Given the description of an element on the screen output the (x, y) to click on. 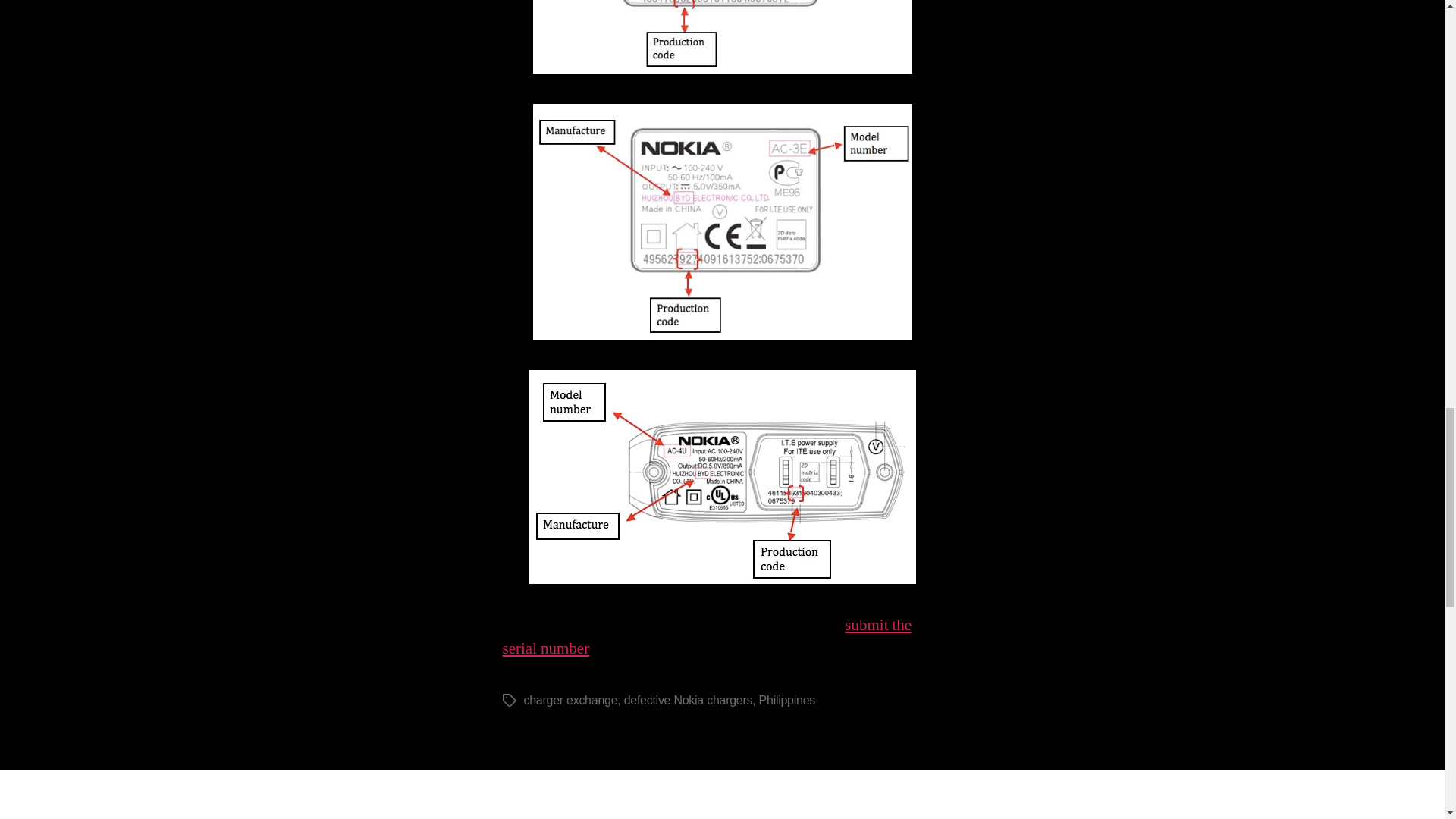
submit the serial number (706, 637)
charger exchange (569, 699)
Philippines (786, 699)
defective Nokia chargers (688, 699)
